Given the description of an element on the screen output the (x, y) to click on. 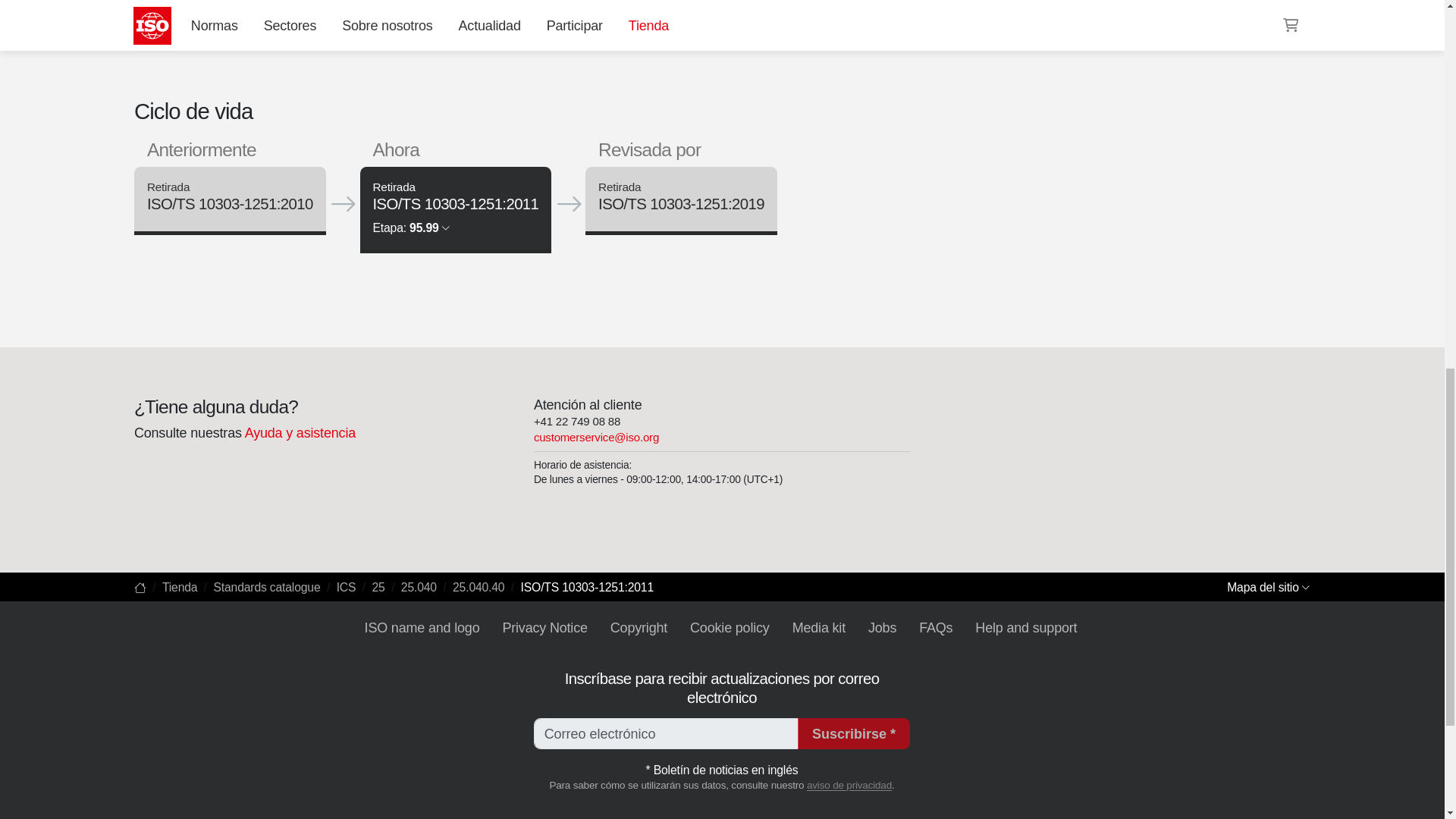
Etapa: 95.99 (410, 227)
